Given the description of an element on the screen output the (x, y) to click on. 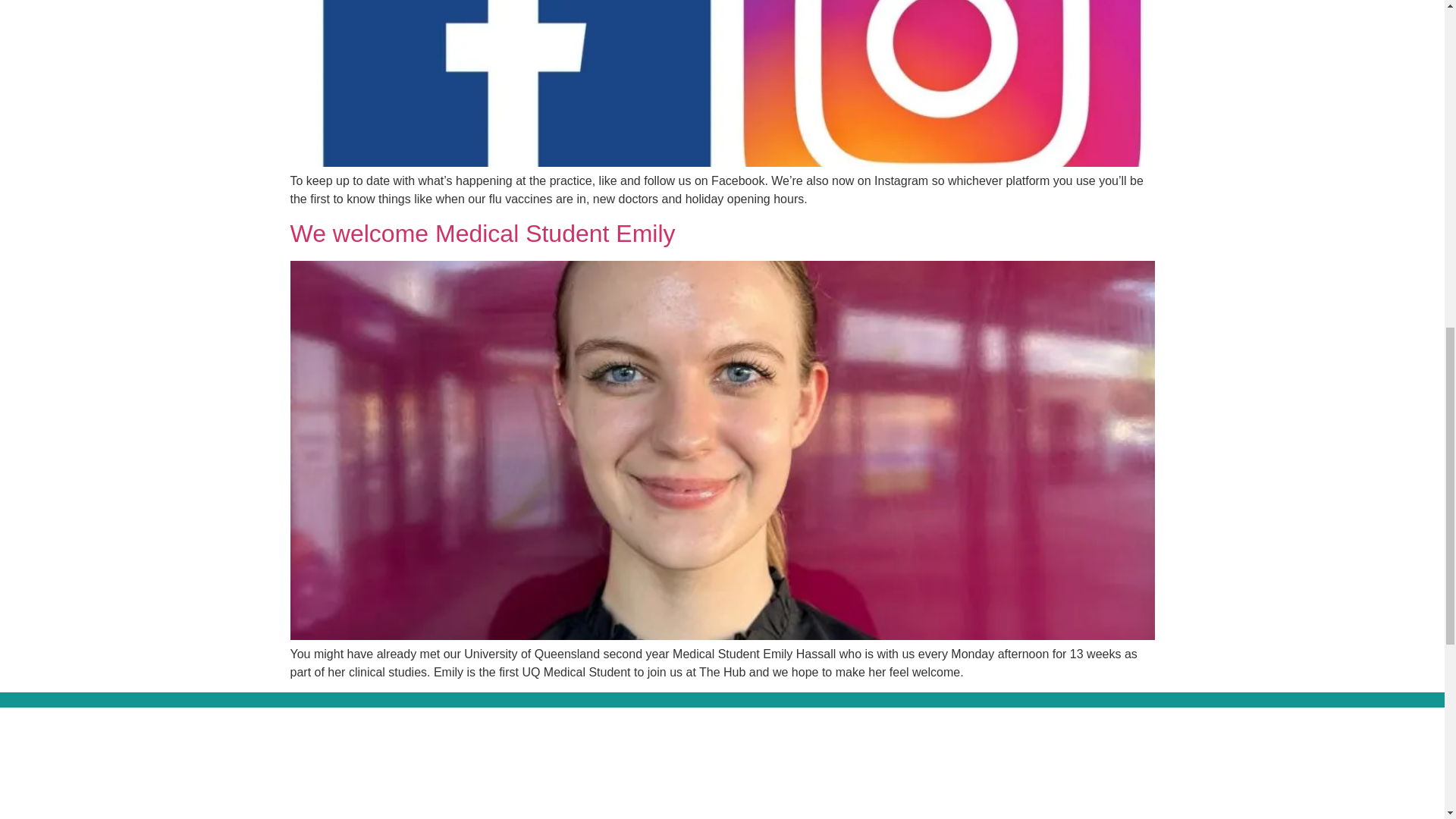
We welcome Medical Student Emily (482, 233)
